Given the description of an element on the screen output the (x, y) to click on. 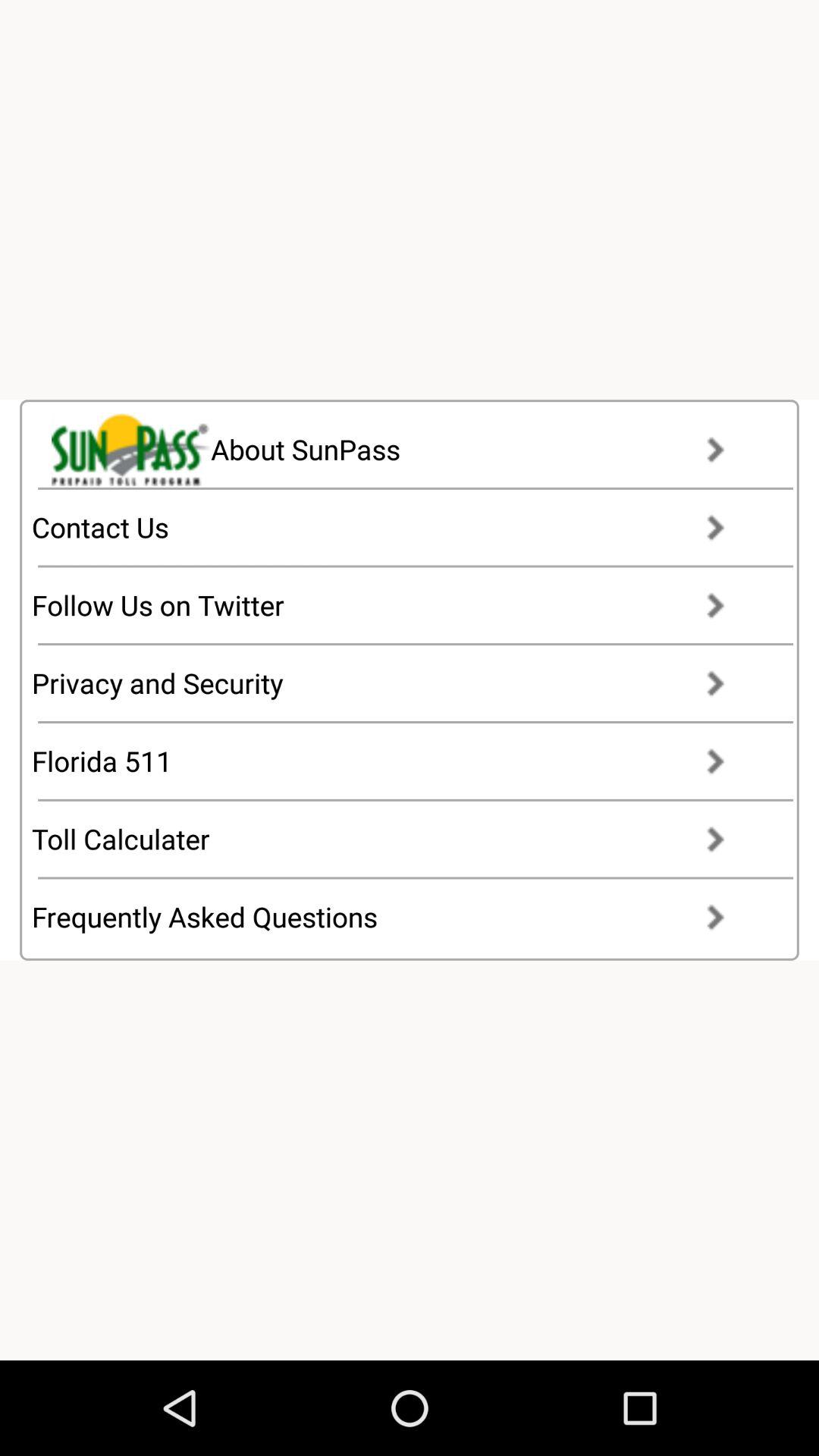
launch the frequently asked questions icon (392, 916)
